Given the description of an element on the screen output the (x, y) to click on. 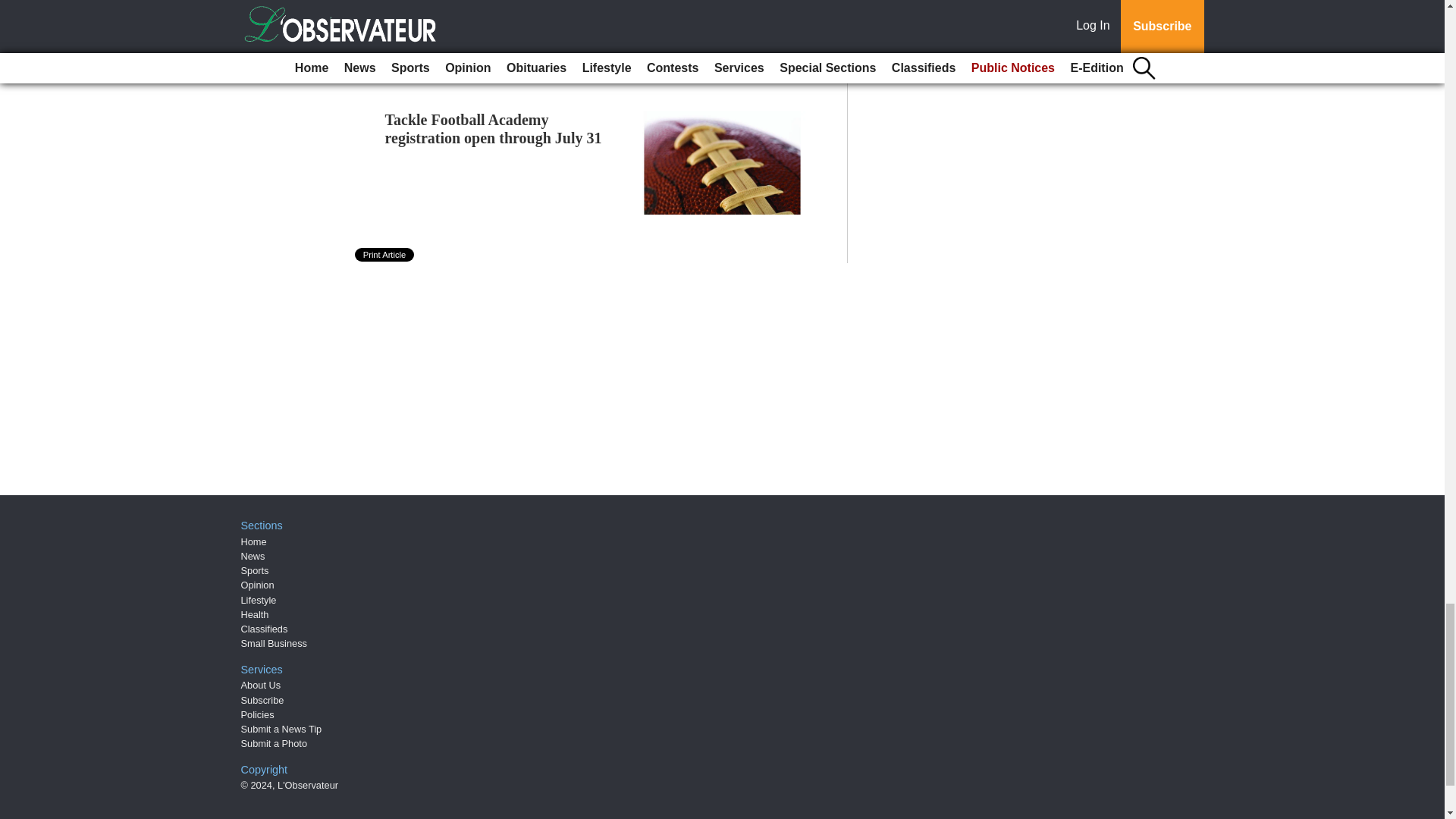
Free volleyball coaching clinic set for July 25 (493, 5)
Free volleyball coaching clinic set for July 25 (493, 5)
Tackle Football Academy registration open through July 31 (493, 128)
Print Article (384, 254)
Tackle Football Academy registration open through July 31 (493, 128)
